Given the description of an element on the screen output the (x, y) to click on. 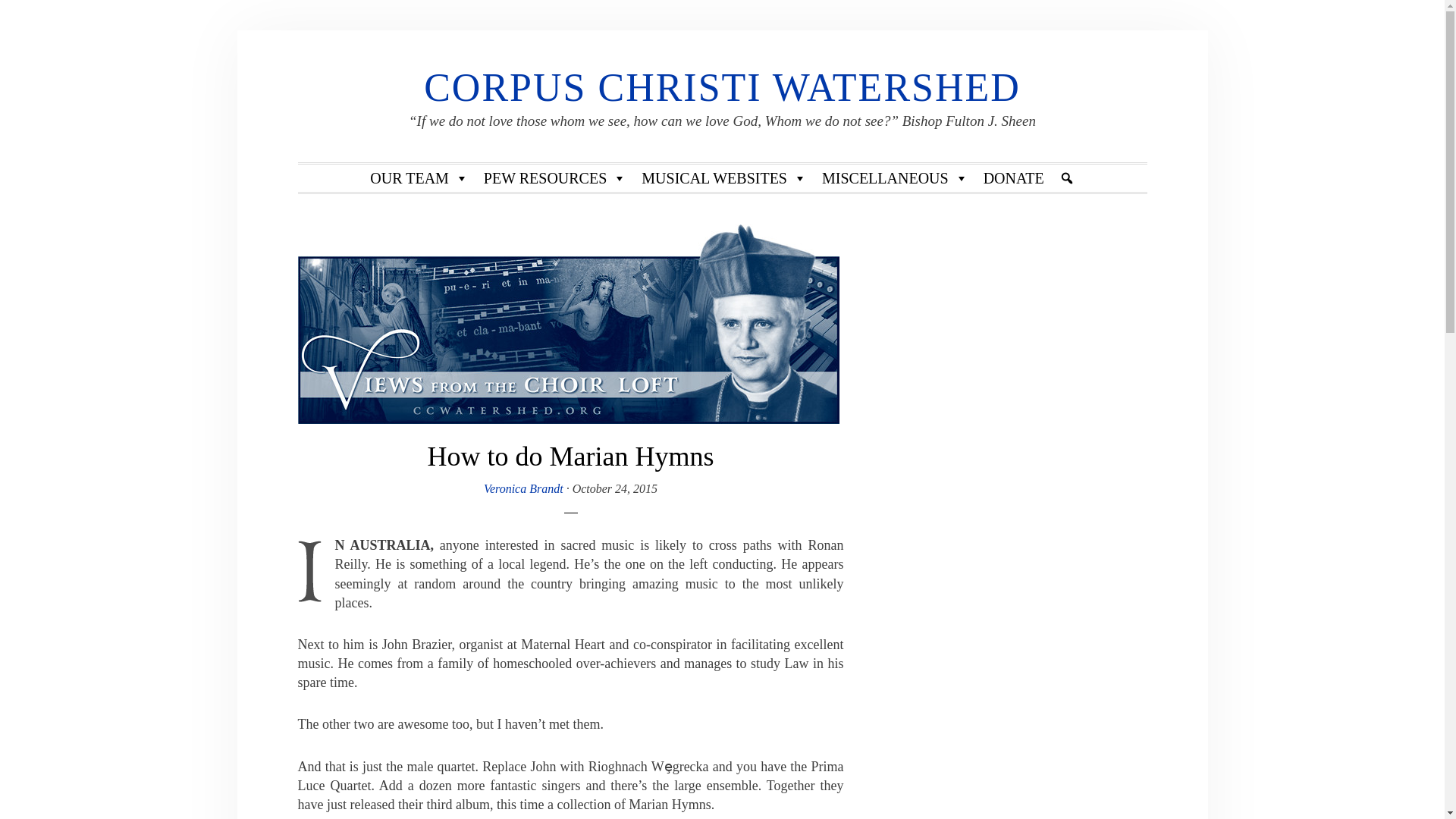
DONATE (1013, 177)
PEW RESOURCES (554, 177)
Veronica Brandt (523, 488)
CORPUS CHRISTI WATERSHED (721, 87)
MUSICAL WEBSITES (723, 177)
MISCELLANEOUS (894, 177)
OUR TEAM (419, 177)
